Given the description of an element on the screen output the (x, y) to click on. 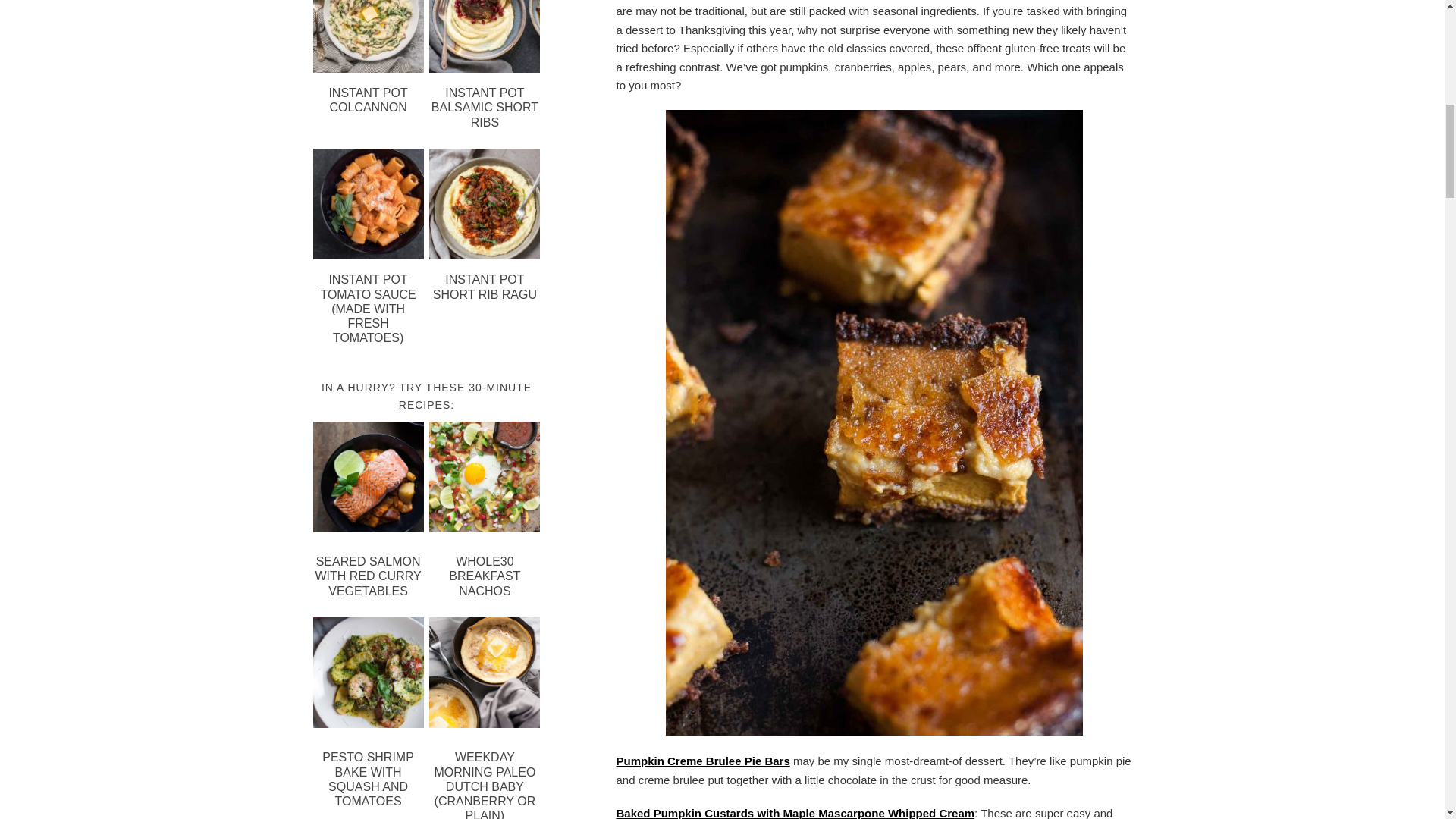
Instant Pot Short Rib Ragu (484, 254)
Instant Pot Colcannon (368, 68)
Pumpkin Creme Brulee Pie Bars (702, 760)
Pesto Shrimp Bake with Squash and Tomatoes (368, 675)
Instant Pot Balsamic Short Ribs (484, 68)
Whole30 Breakfast Nachos (484, 479)
Seared Salmon with Red Curry Vegetables (368, 479)
Baked Pumpkin Custards with Maple Mascarpone Whipped Cream (794, 812)
